Given the description of an element on the screen output the (x, y) to click on. 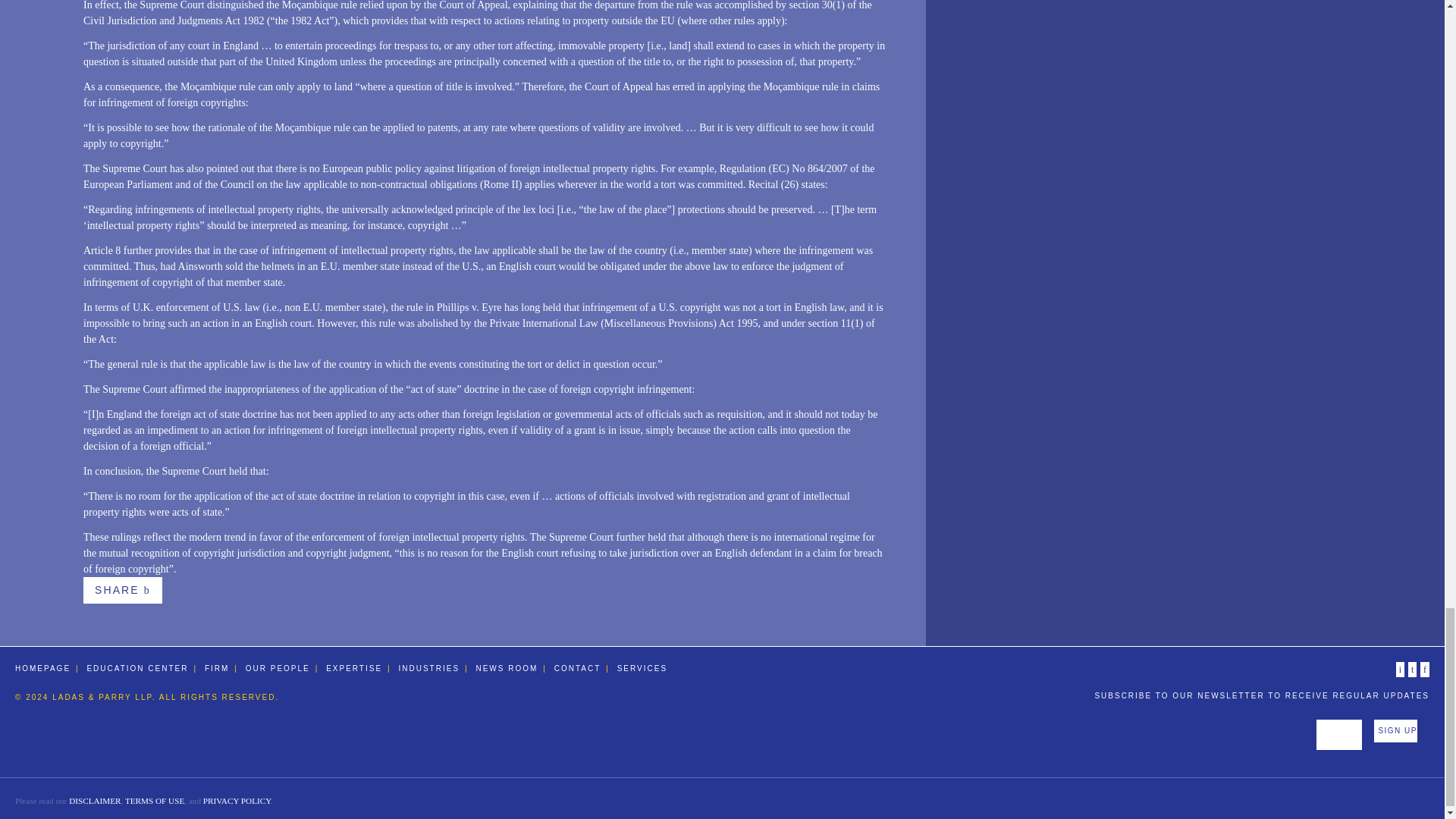
Sign Up (1395, 730)
